Given the description of an element on the screen output the (x, y) to click on. 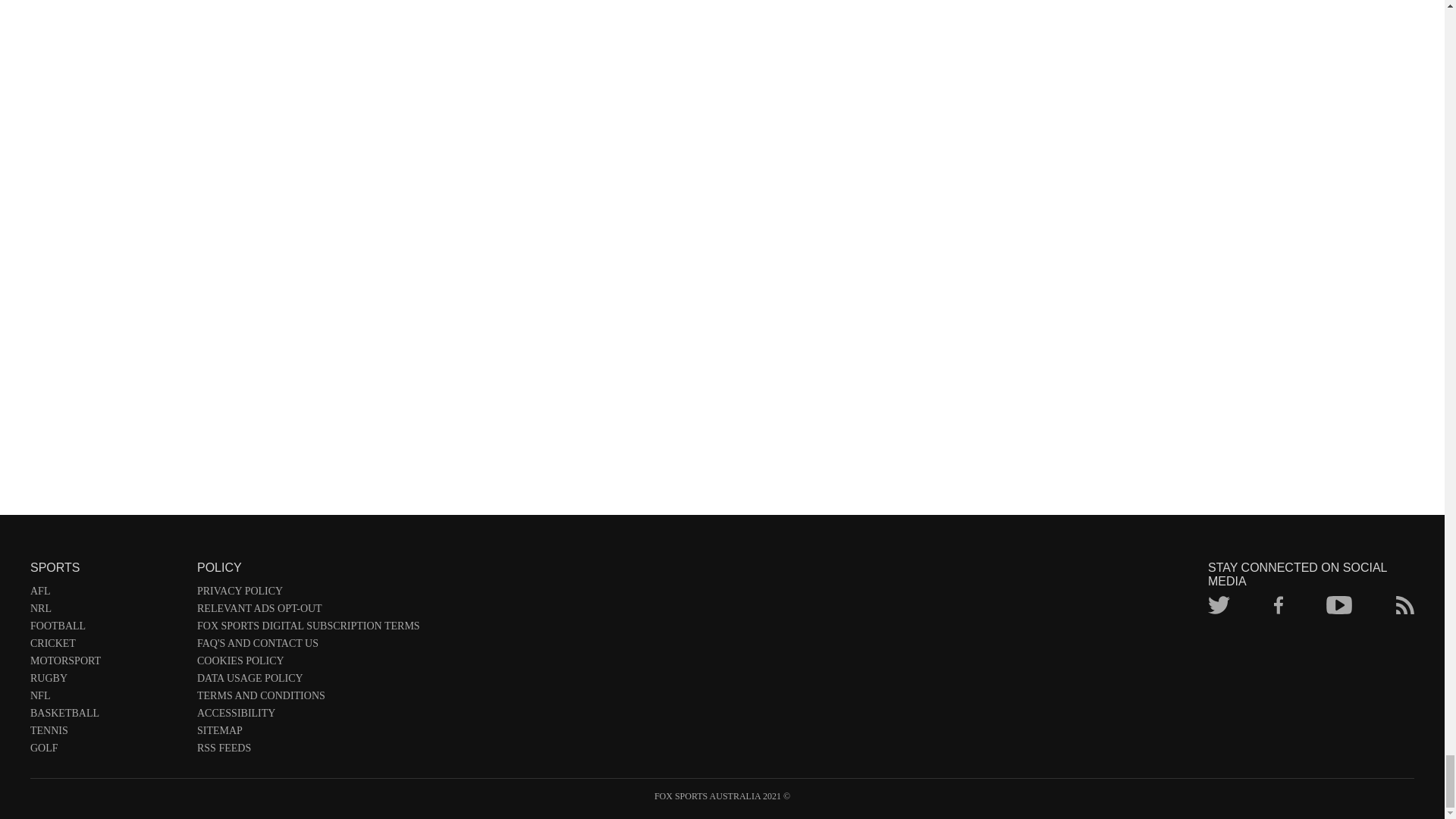
NRL (106, 610)
COOKIES POLICY (308, 663)
CRICKET (106, 646)
PRIVACY POLICY (308, 593)
FOX SPORTS DIGITAL SUBSCRIPTION TERMS (308, 628)
NFL (106, 698)
SITEMAP (308, 733)
ACCESSIBILITY (308, 715)
GOLF (106, 751)
BASKETBALL (106, 715)
